Given the description of an element on the screen output the (x, y) to click on. 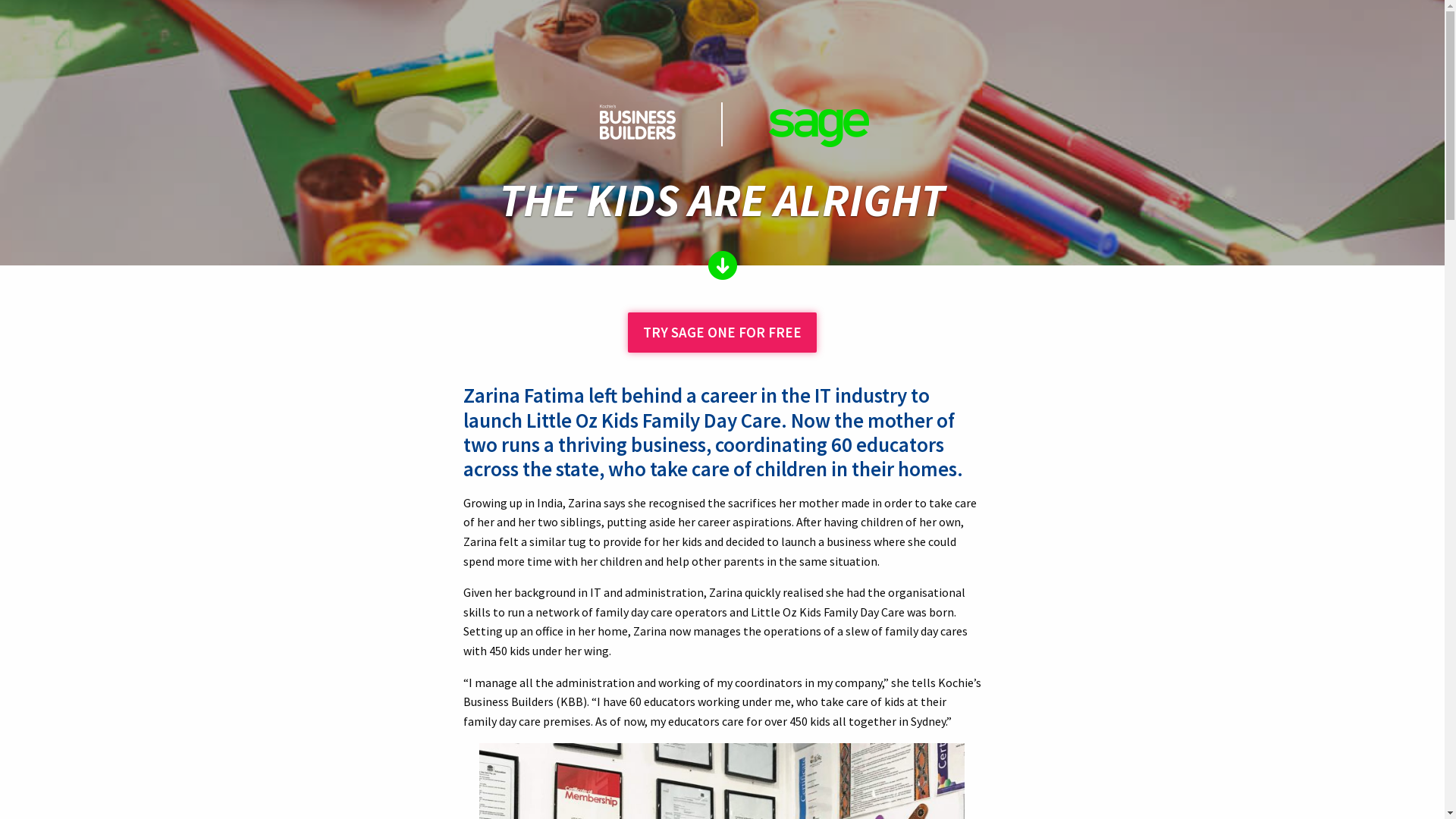
TRY SAGE ONE FOR FREE Element type: text (721, 332)
